Given the description of an element on the screen output the (x, y) to click on. 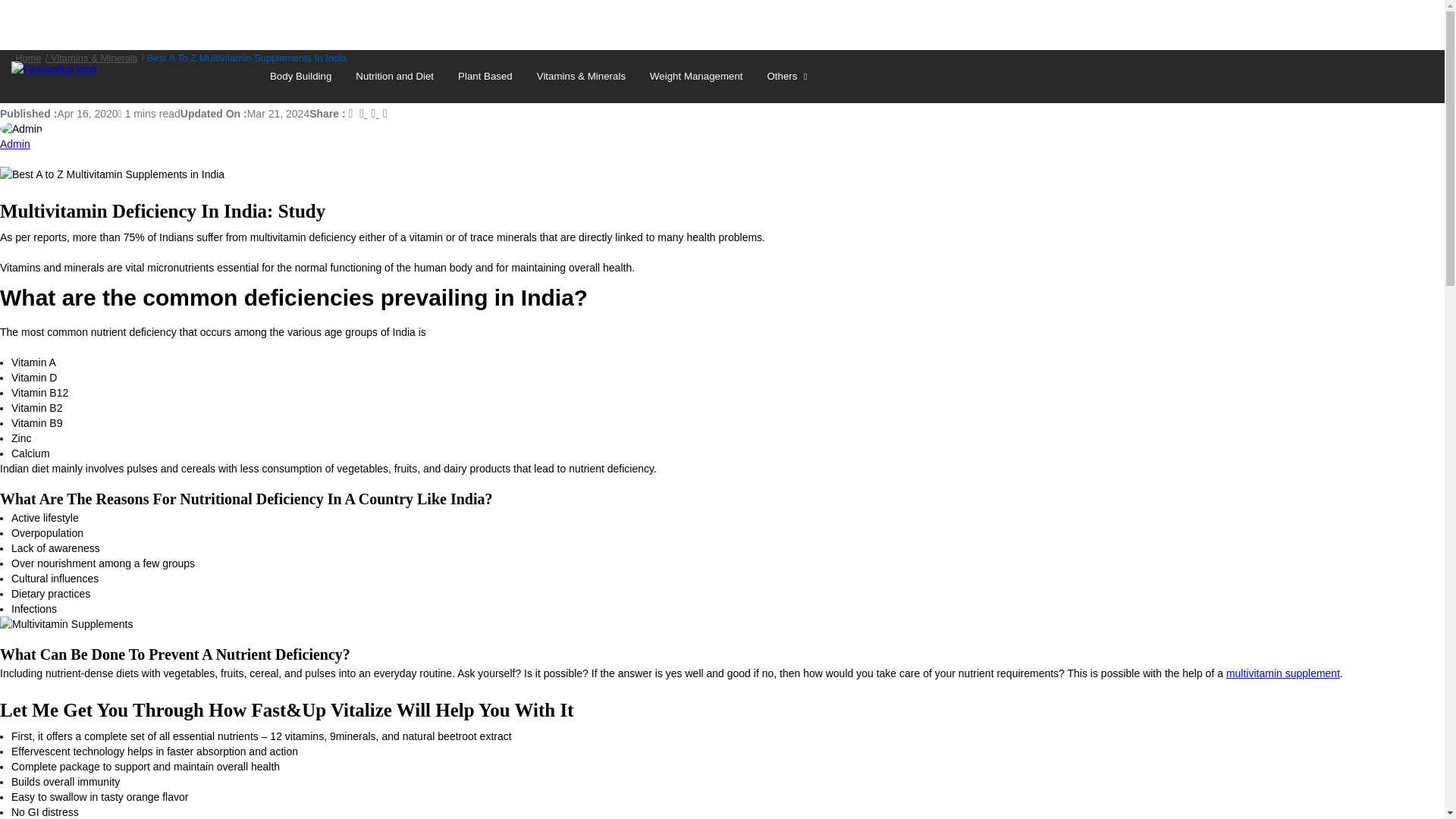
Home (28, 57)
Plant Based (484, 76)
Admin (15, 143)
Weight Management (695, 76)
Body Building (300, 76)
Others (789, 76)
Nutrition and Diet (394, 76)
Multivitamin Supplements (66, 623)
